Given the description of an element on the screen output the (x, y) to click on. 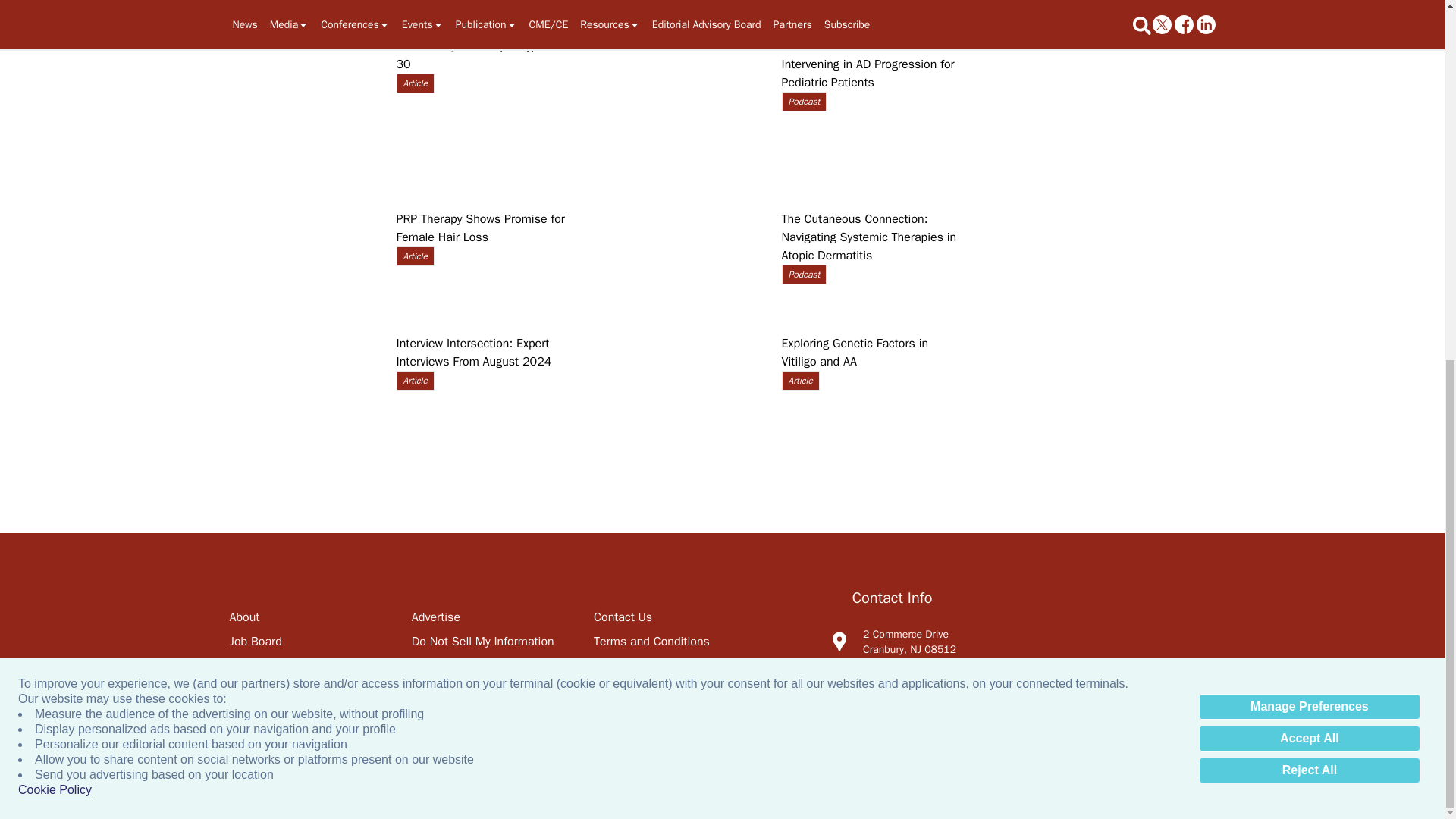
Manage Preferences (1309, 67)
Accept All (1309, 99)
Cookie Policy (54, 150)
The Weekly Roundup: August 26-30 (304, 116)
Reject All (1309, 130)
